Given the description of an element on the screen output the (x, y) to click on. 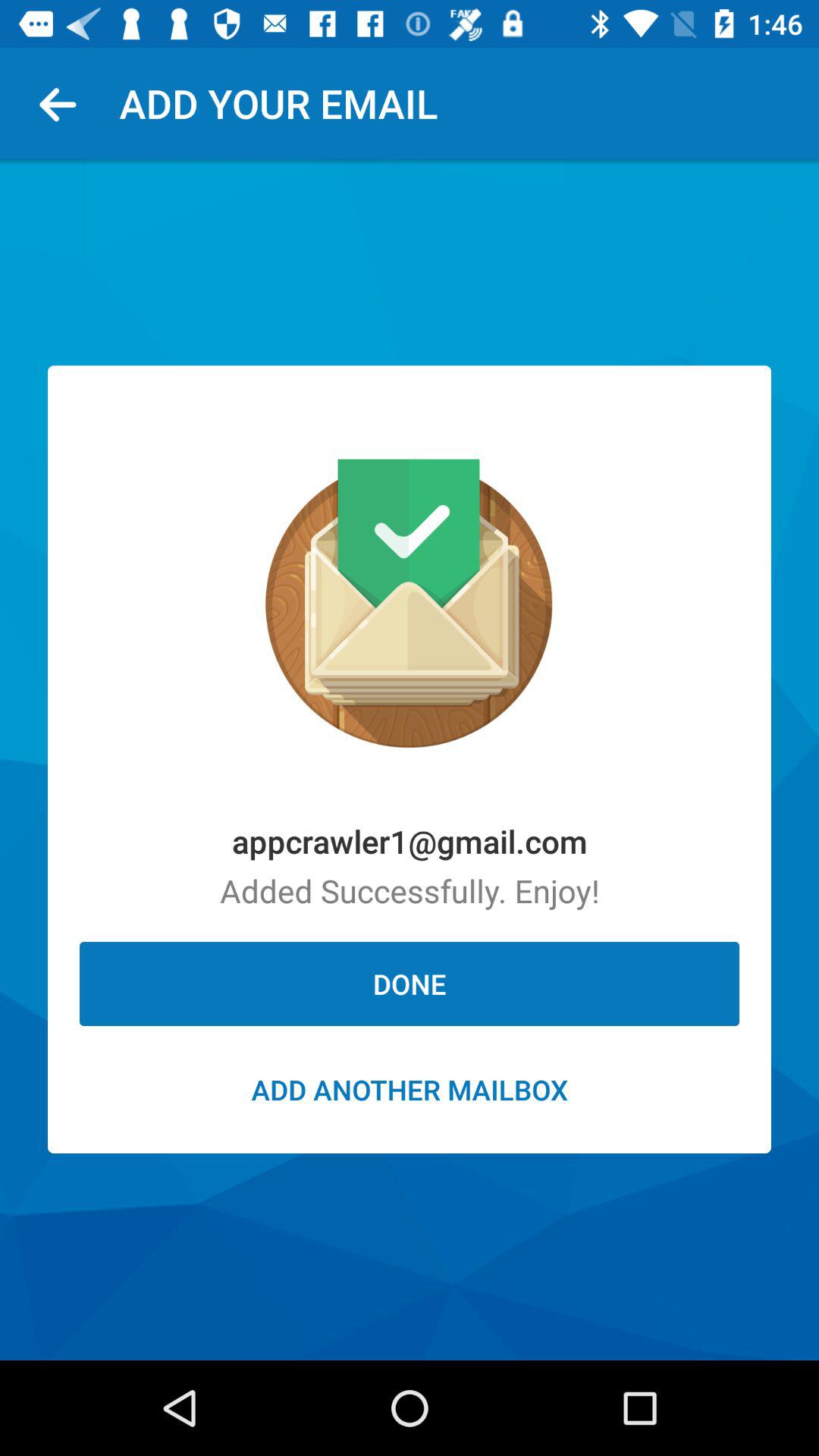
click the icon at the top left corner (63, 103)
